Given the description of an element on the screen output the (x, y) to click on. 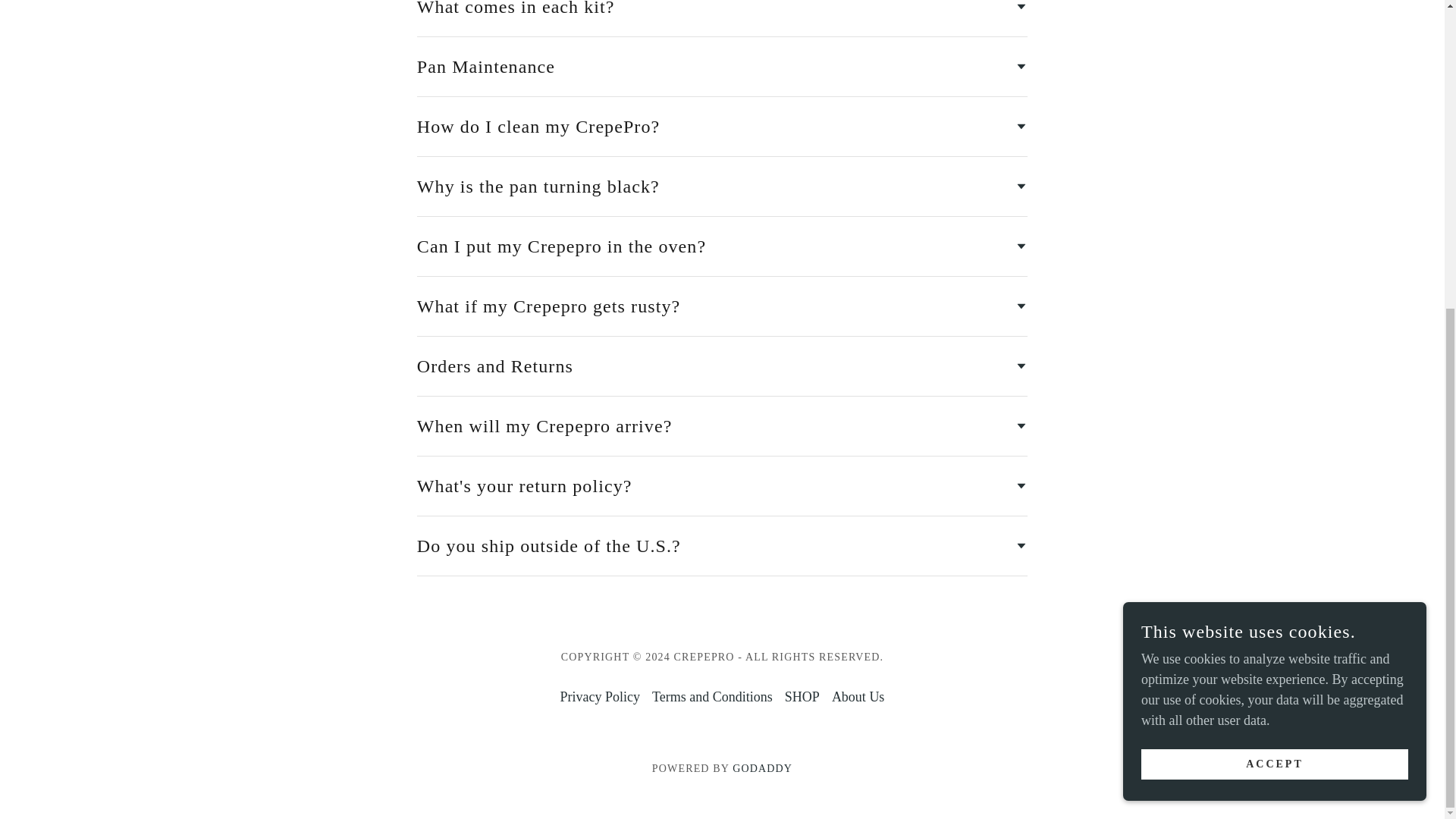
What if my Crepepro gets rusty? (721, 306)
What comes in each kit? (721, 12)
How do I clean my CrepePro? (721, 126)
Why is the pan turning black? (721, 185)
Can I put my Crepepro in the oven? (721, 246)
Pan Maintenance (721, 66)
